Given the description of an element on the screen output the (x, y) to click on. 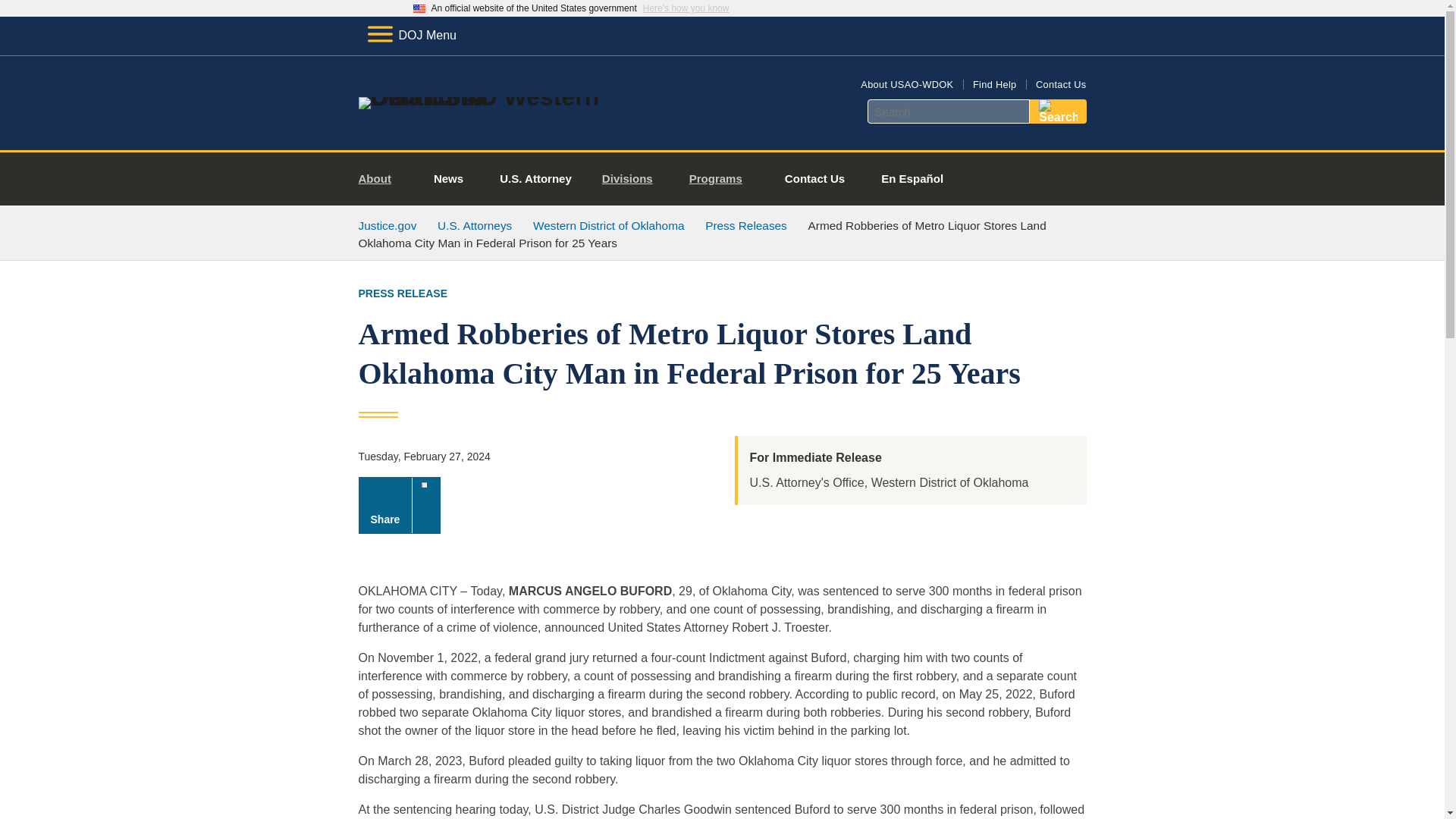
Here's how you know (686, 8)
Find Help (994, 84)
Contact Us (815, 179)
Contact Us (1060, 84)
Justice.gov (387, 225)
About (380, 179)
About USAO-WDOK (906, 84)
Programs (722, 179)
Home (481, 96)
Press Releases (745, 225)
U.S. Attorney (535, 179)
News (447, 179)
Divisions (633, 179)
U.S. Attorneys (475, 225)
Share (398, 504)
